Given the description of an element on the screen output the (x, y) to click on. 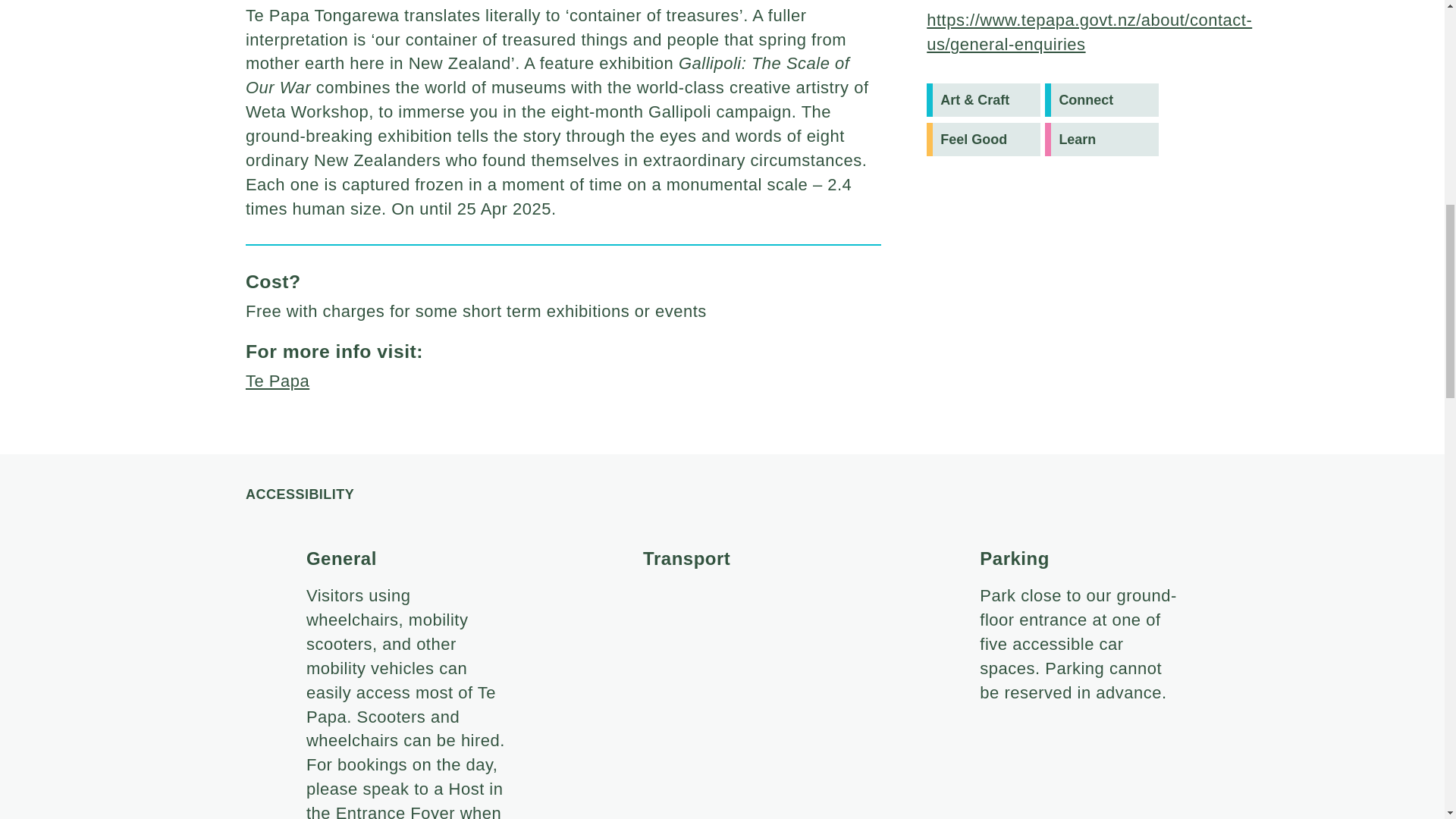
Te Papa (277, 380)
Feel Good (983, 139)
Learn (1101, 139)
Connect (1101, 100)
